Given the description of an element on the screen output the (x, y) to click on. 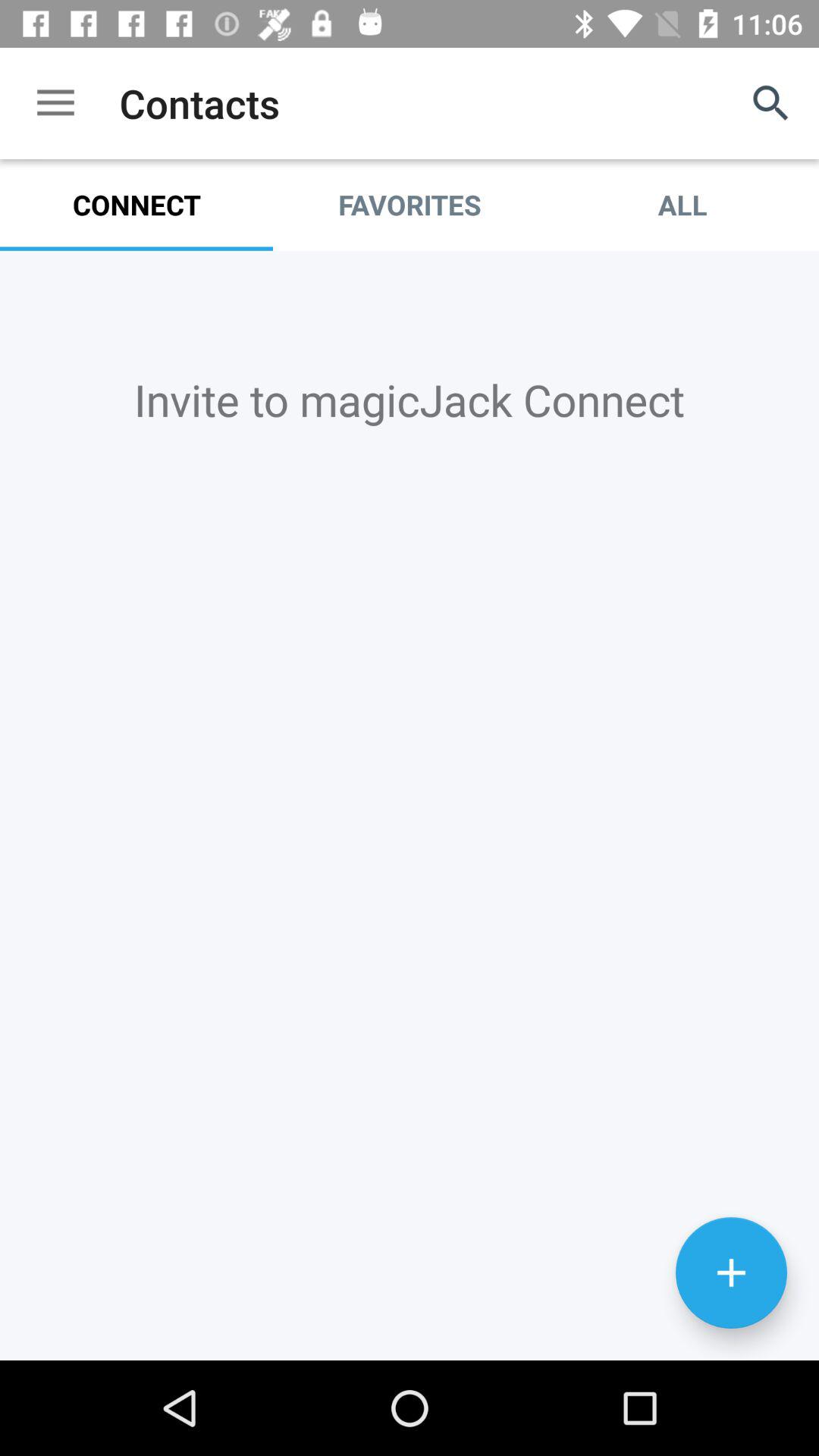
swipe until the favorites (409, 204)
